Given the description of an element on the screen output the (x, y) to click on. 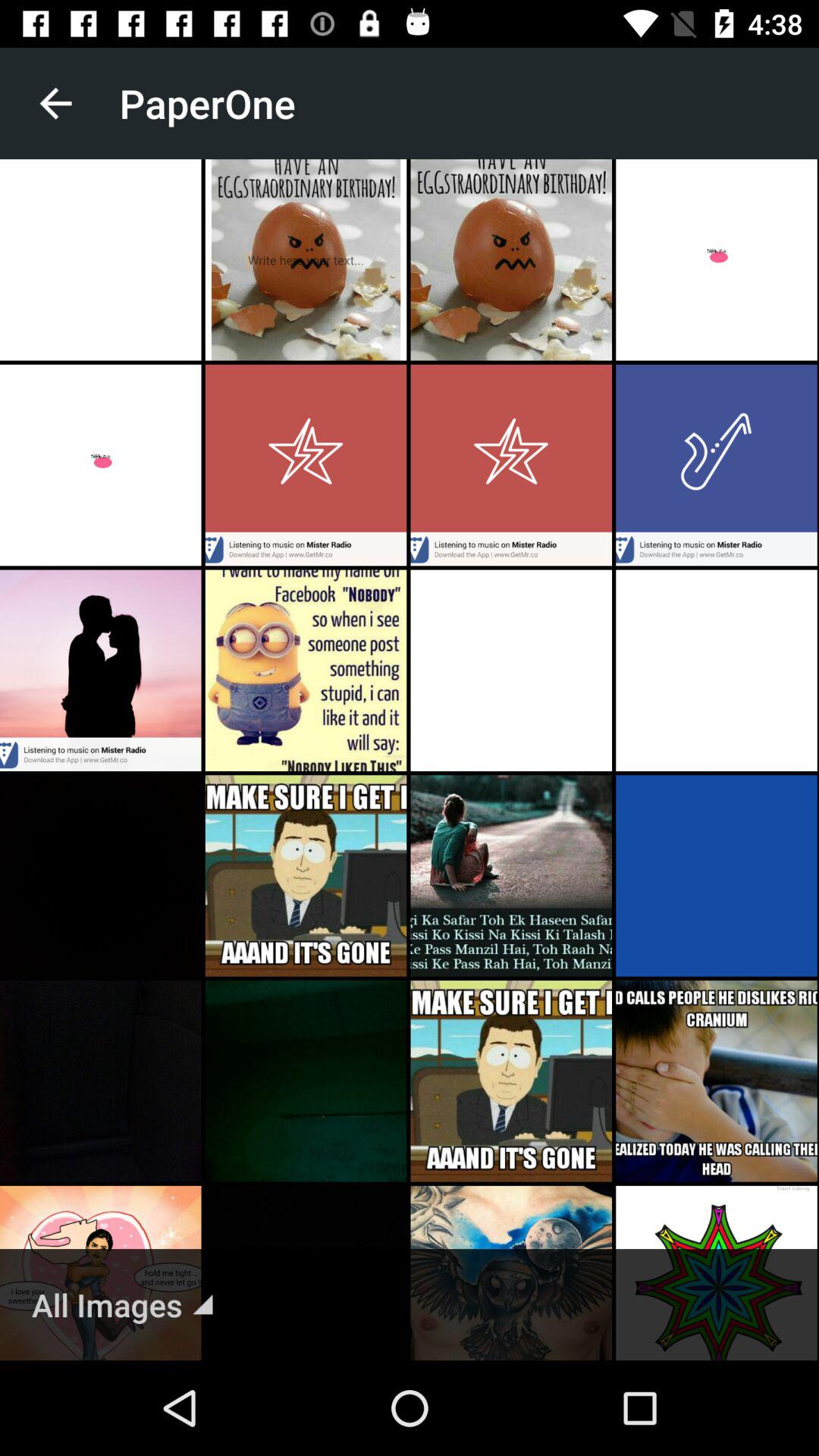
flip until all images item (122, 1304)
